Given the description of an element on the screen output the (x, y) to click on. 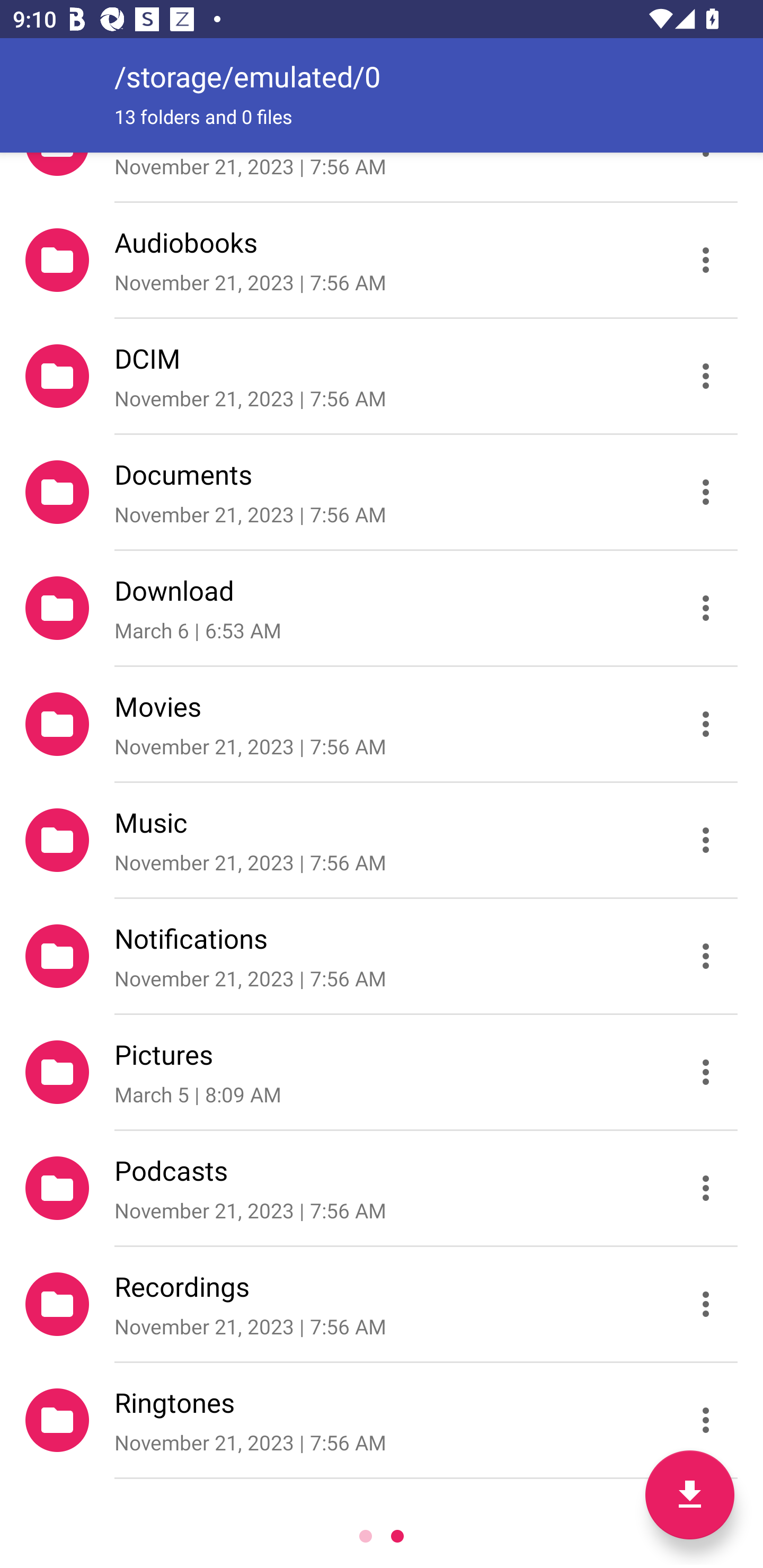
Audiobooks November 21, 2023 | 7:56 AM (381, 259)
DCIM November 21, 2023 | 7:56 AM (381, 375)
Documents November 21, 2023 | 7:56 AM (381, 491)
Download March 6 | 6:53 AM (381, 607)
Movies November 21, 2023 | 7:56 AM (381, 723)
Music November 21, 2023 | 7:56 AM (381, 839)
Notifications November 21, 2023 | 7:56 AM (381, 955)
Pictures March 5 | 8:09 AM (381, 1071)
Podcasts November 21, 2023 | 7:56 AM (381, 1187)
Recordings November 21, 2023 | 7:56 AM (381, 1303)
Ringtones November 21, 2023 | 7:56 AM (381, 1419)
